Given the description of an element on the screen output the (x, y) to click on. 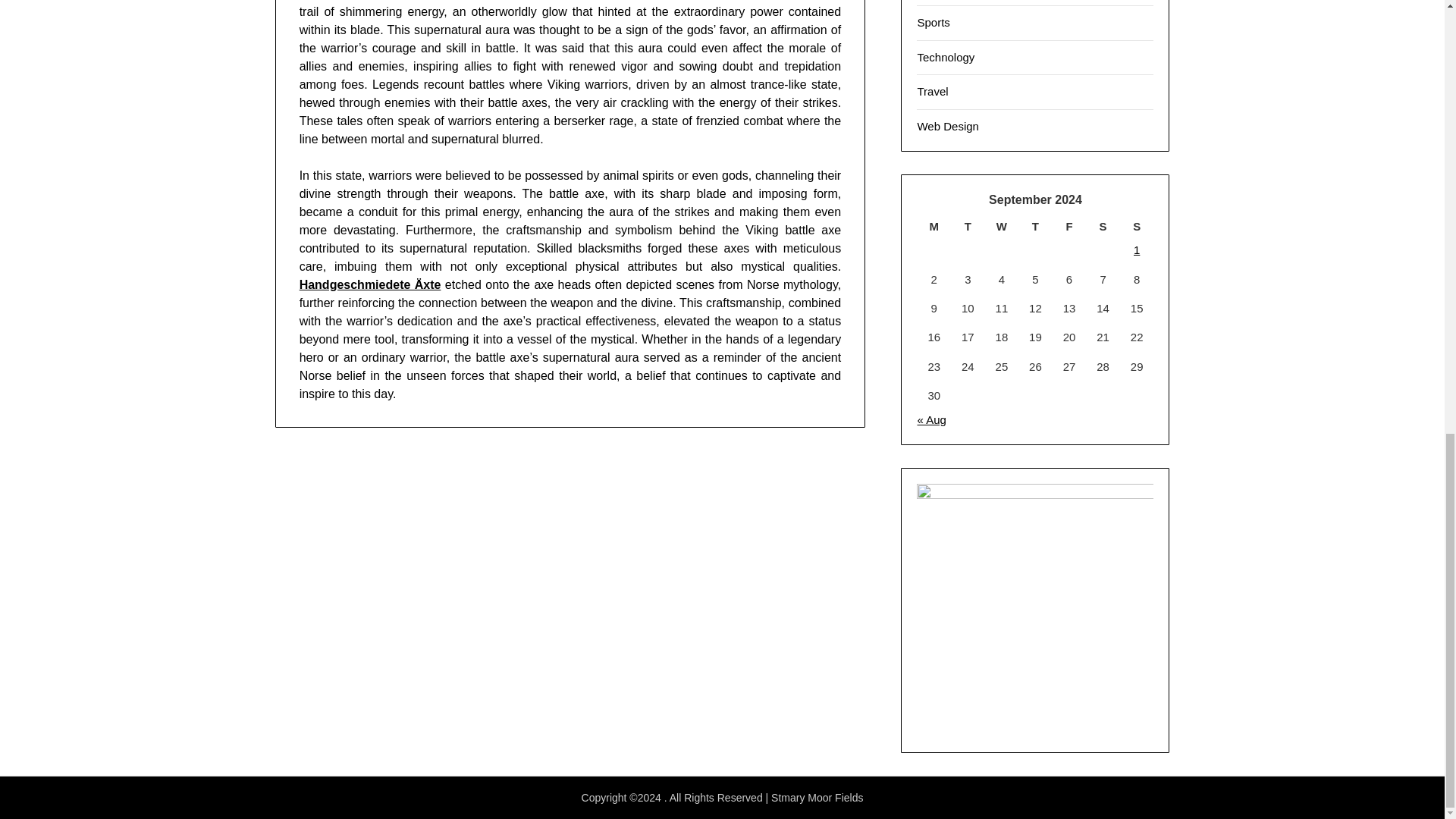
Thursday (1034, 226)
Sports (933, 21)
Technology (945, 56)
Saturday (1102, 226)
Friday (1069, 226)
Travel (932, 91)
Wednesday (1002, 226)
Web Design (947, 124)
Sunday (1136, 226)
Monday (933, 226)
